Given the description of an element on the screen output the (x, y) to click on. 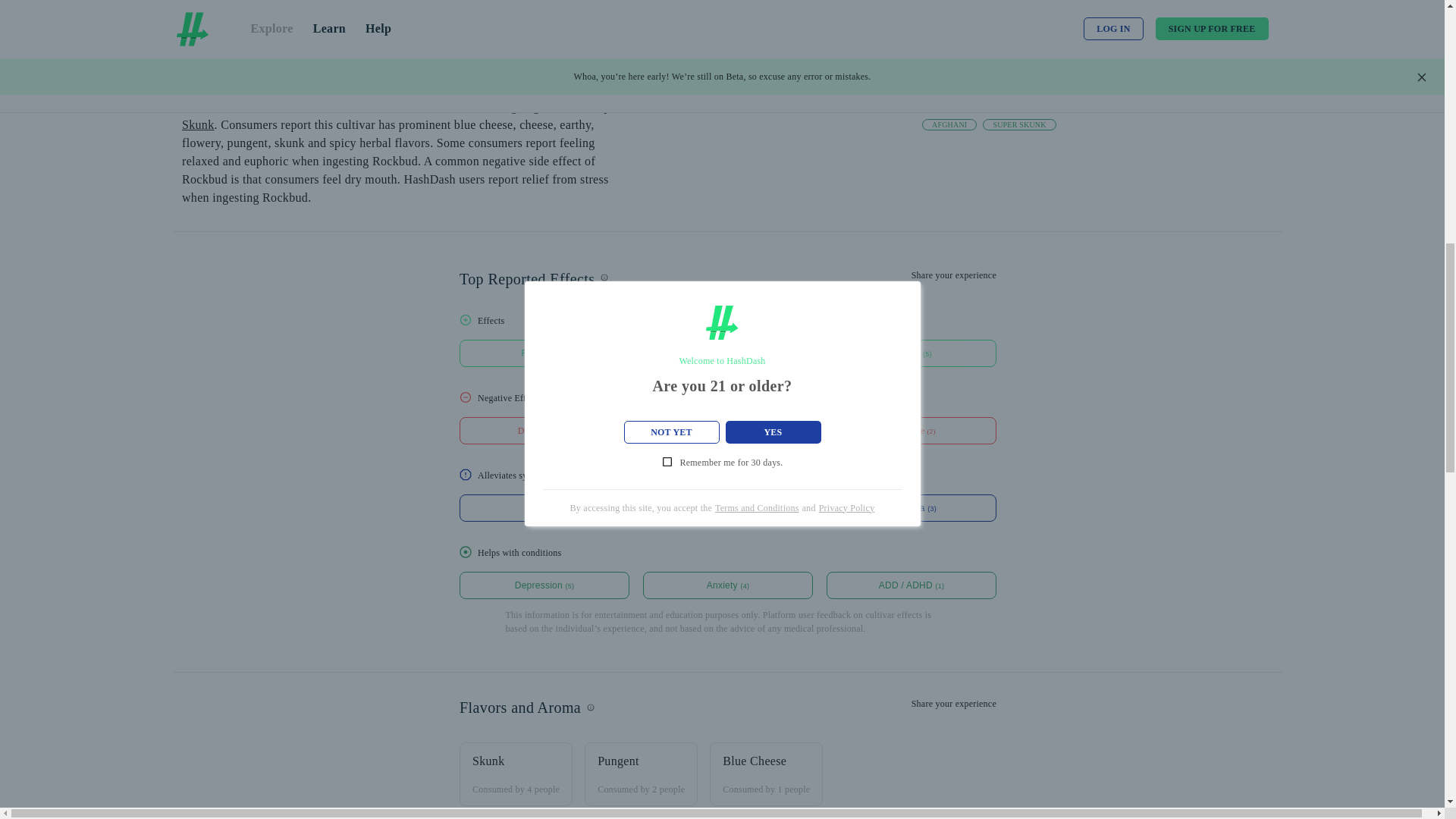
Afghani (540, 106)
sleepy (911, 352)
Effects (727, 339)
SUPER SKUNK (1018, 124)
euphoric (727, 352)
Super Skunk (401, 115)
relaxed (544, 352)
AFGHANI (948, 124)
